Given the description of an element on the screen output the (x, y) to click on. 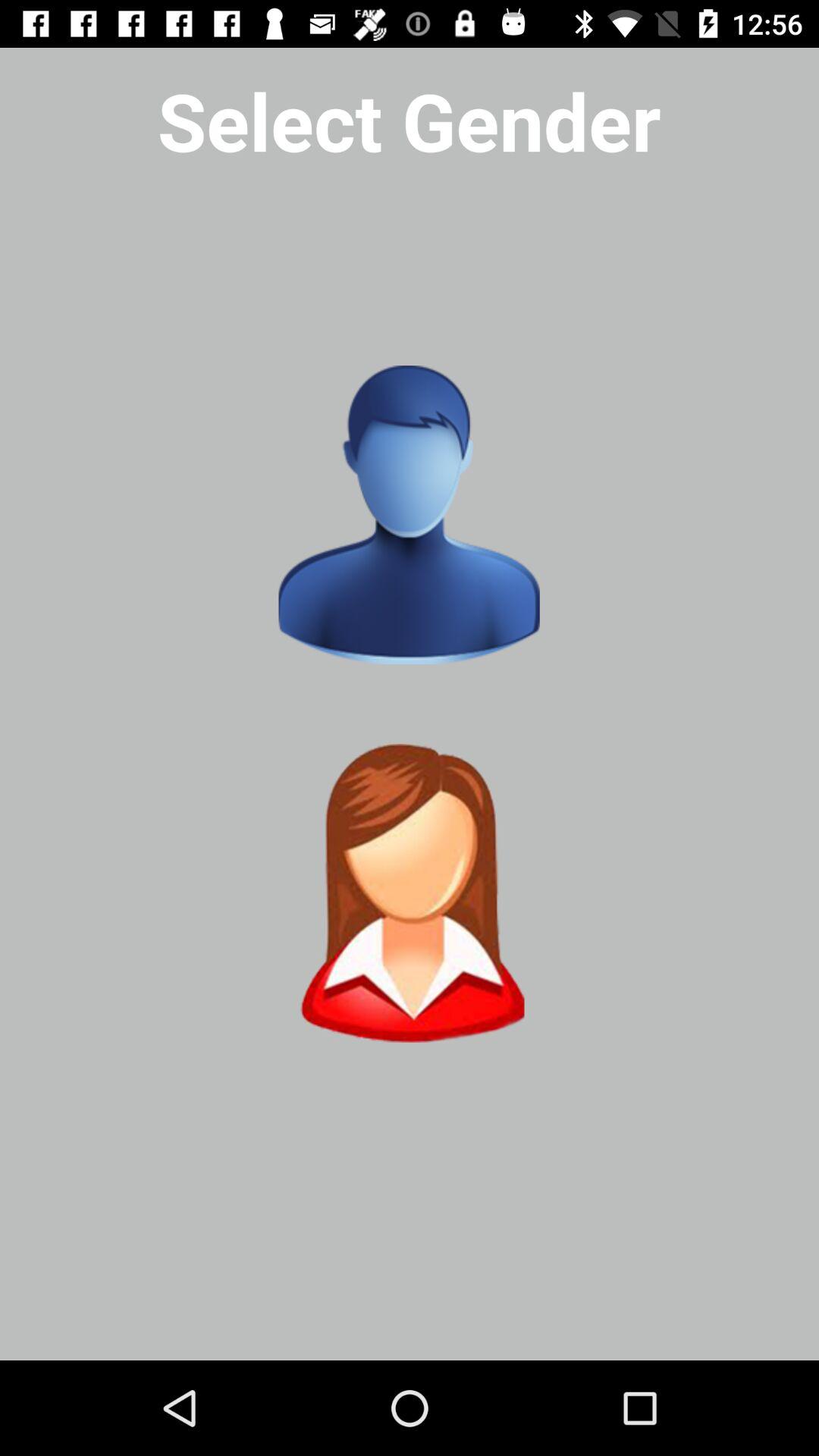
click contact female icon (408, 892)
